Given the description of an element on the screen output the (x, y) to click on. 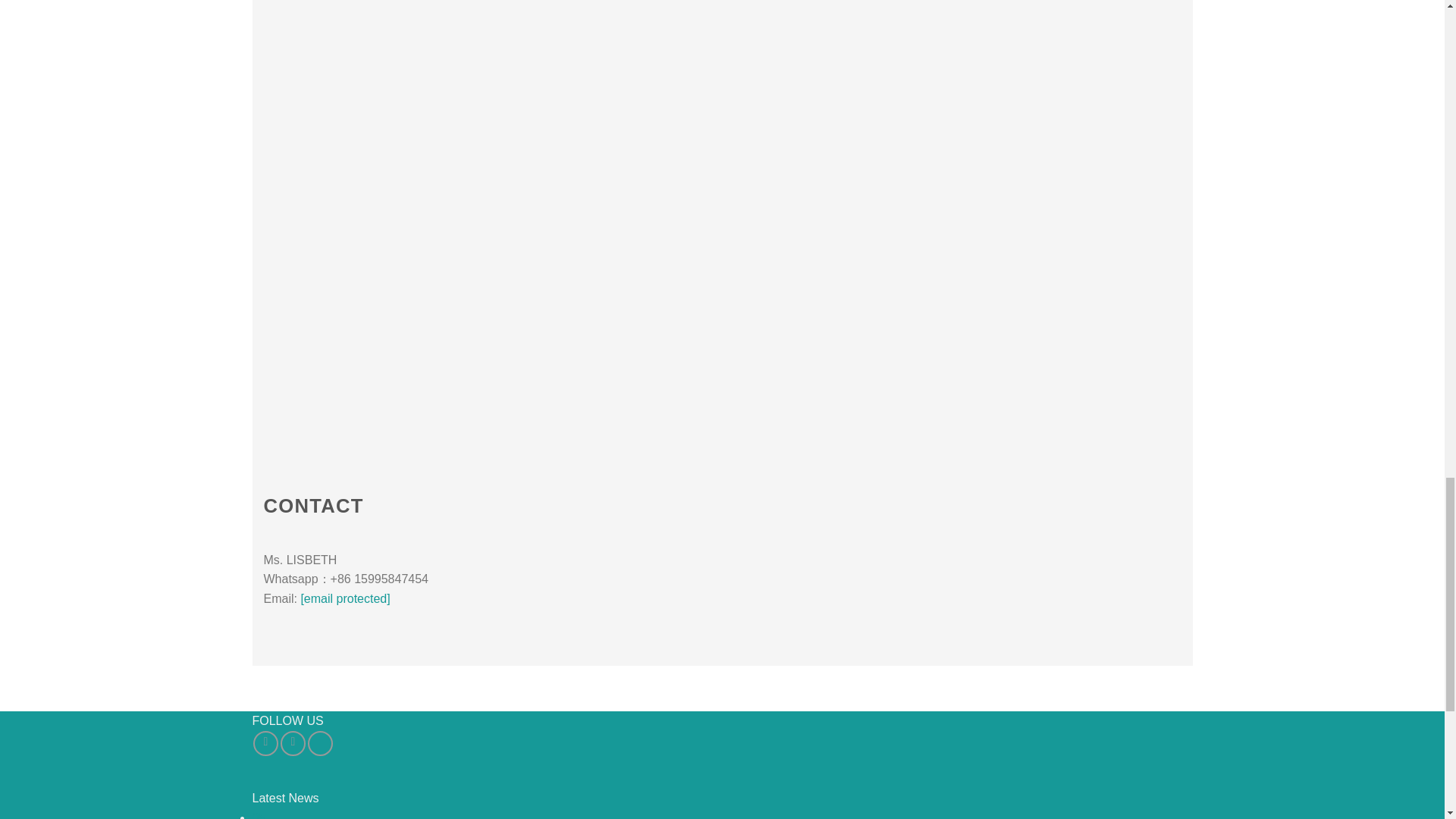
Follow on Facebook (265, 743)
Send us an email (293, 743)
Follow on LinkedIn (320, 743)
